Given the description of an element on the screen output the (x, y) to click on. 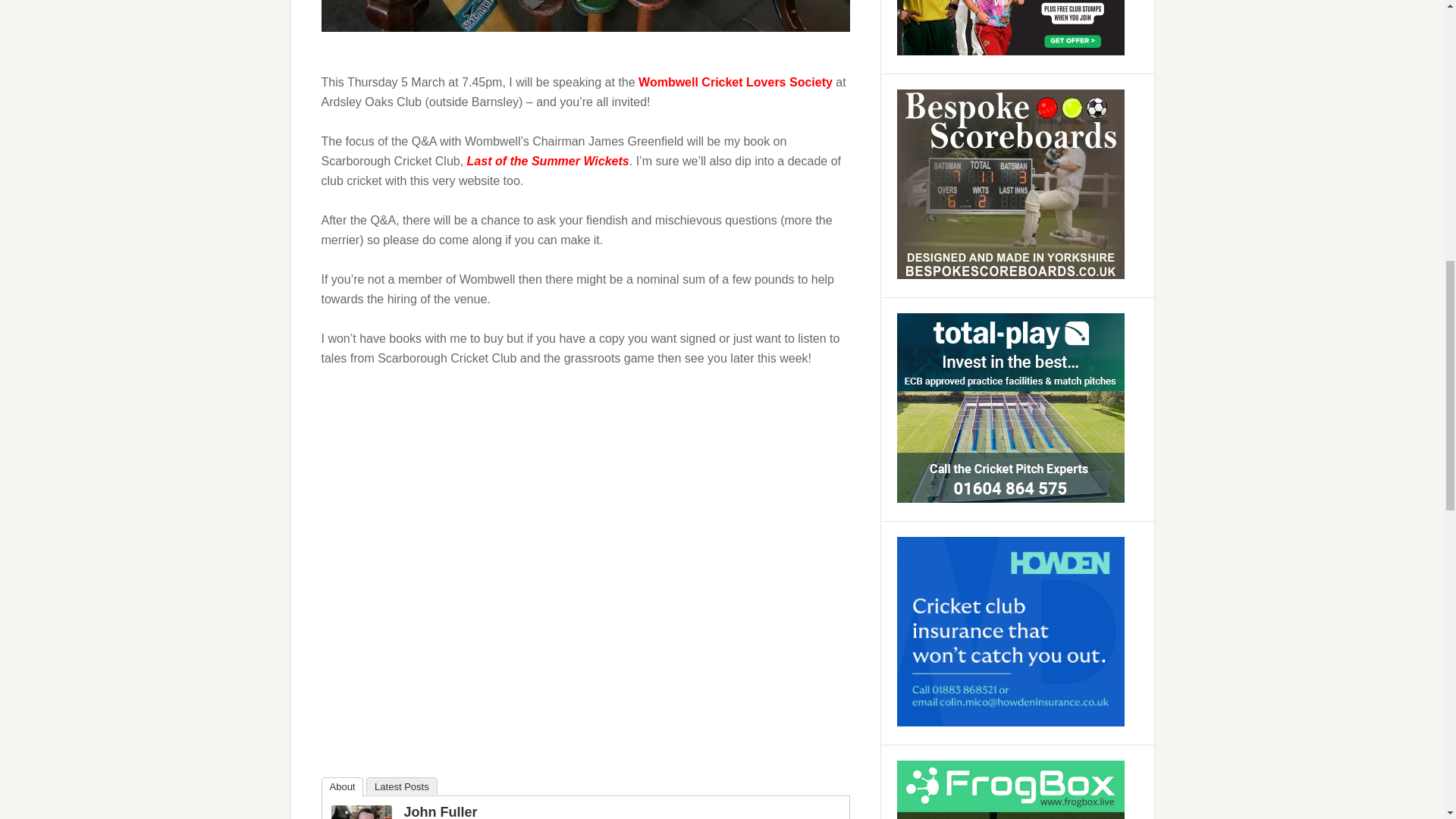
Latest Posts (402, 785)
Last of the Summer Wickets (547, 160)
About (342, 786)
John Fuller (440, 811)
Wombwell Cricket Lovers Society (735, 82)
